Given the description of an element on the screen output the (x, y) to click on. 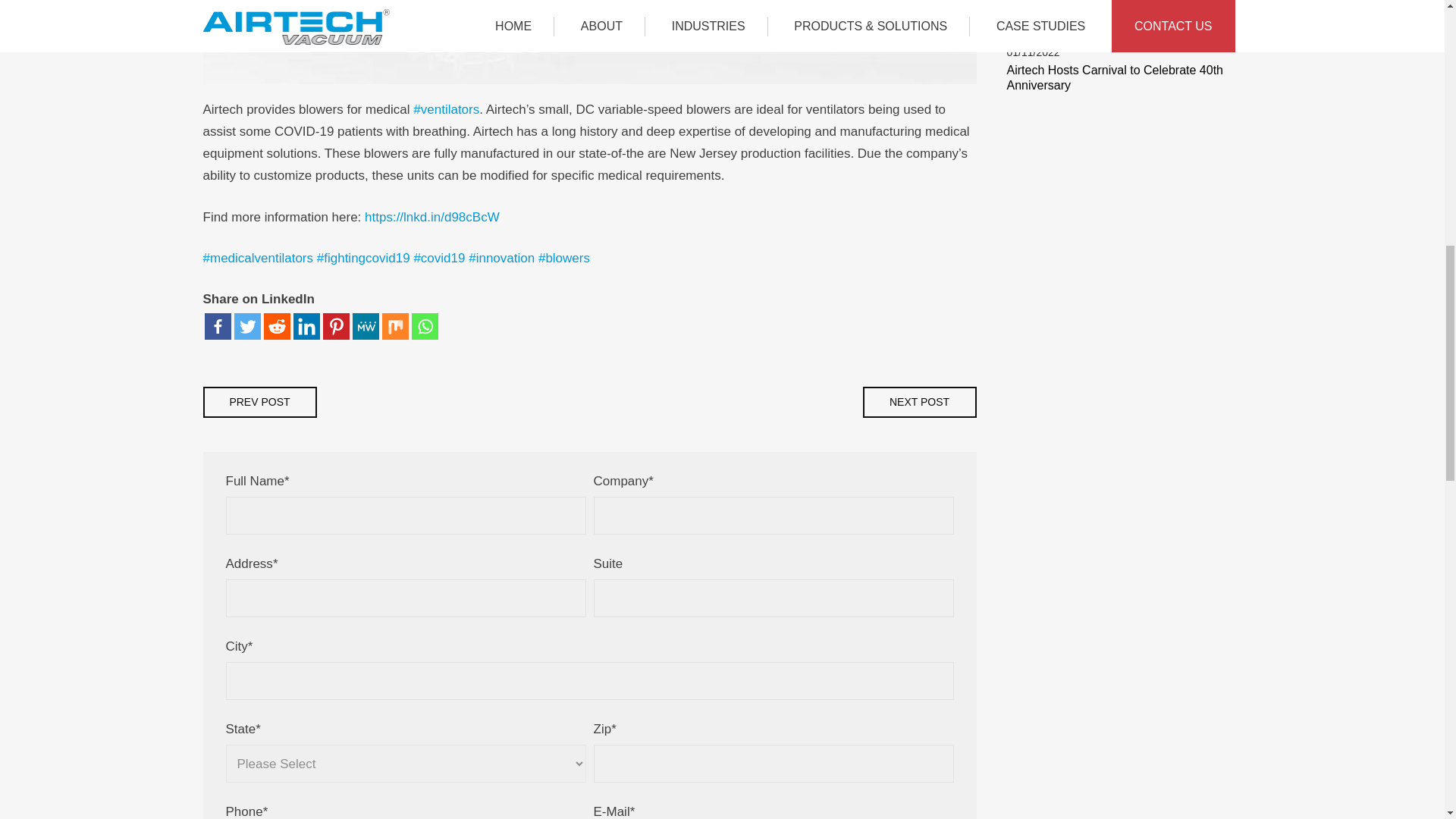
Whatsapp (424, 325)
Facebook (218, 325)
Pinterest (336, 325)
Linkedin (305, 325)
MeWe (365, 325)
Reddit (276, 325)
Mix (395, 325)
Twitter (246, 325)
